Given the description of an element on the screen output the (x, y) to click on. 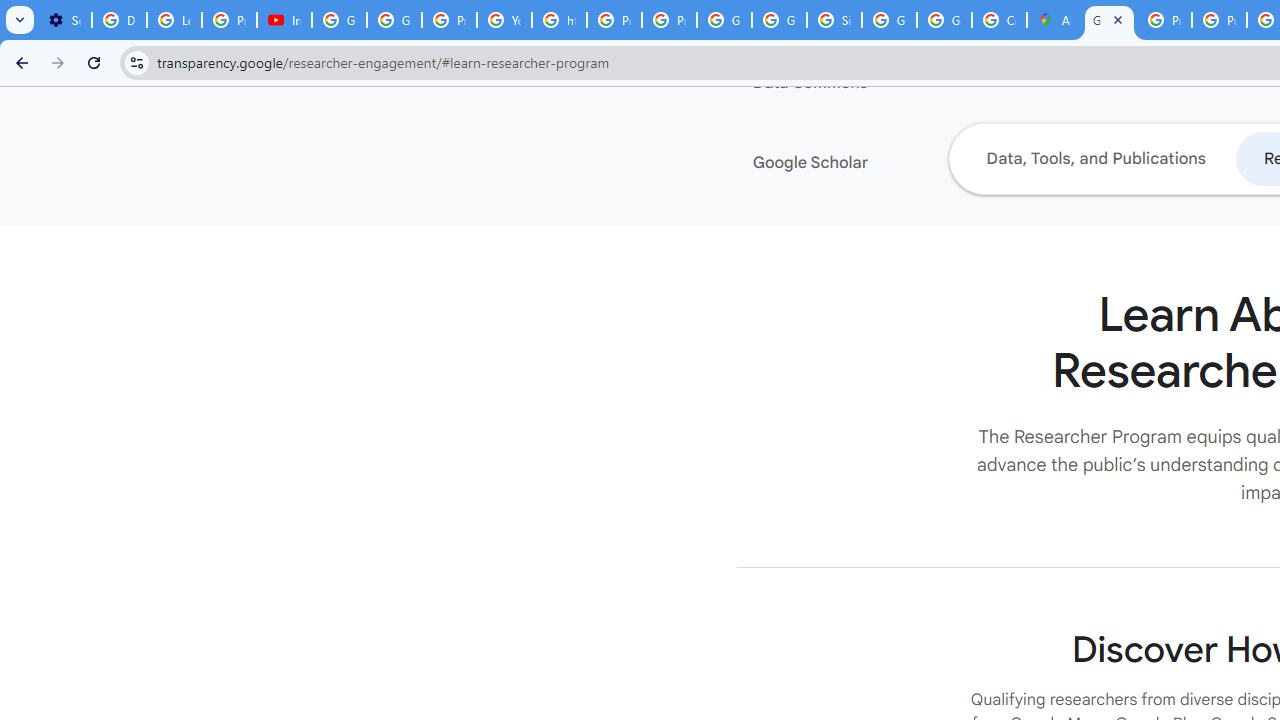
Google Researcher Engagement - Transparency Center (1108, 20)
Settings - Performance (64, 20)
Google Scholar (874, 163)
Data Commons (874, 83)
Introduction | Google Privacy Policy - YouTube (284, 20)
Data, Tools, and Publications (1095, 158)
